Given the description of an element on the screen output the (x, y) to click on. 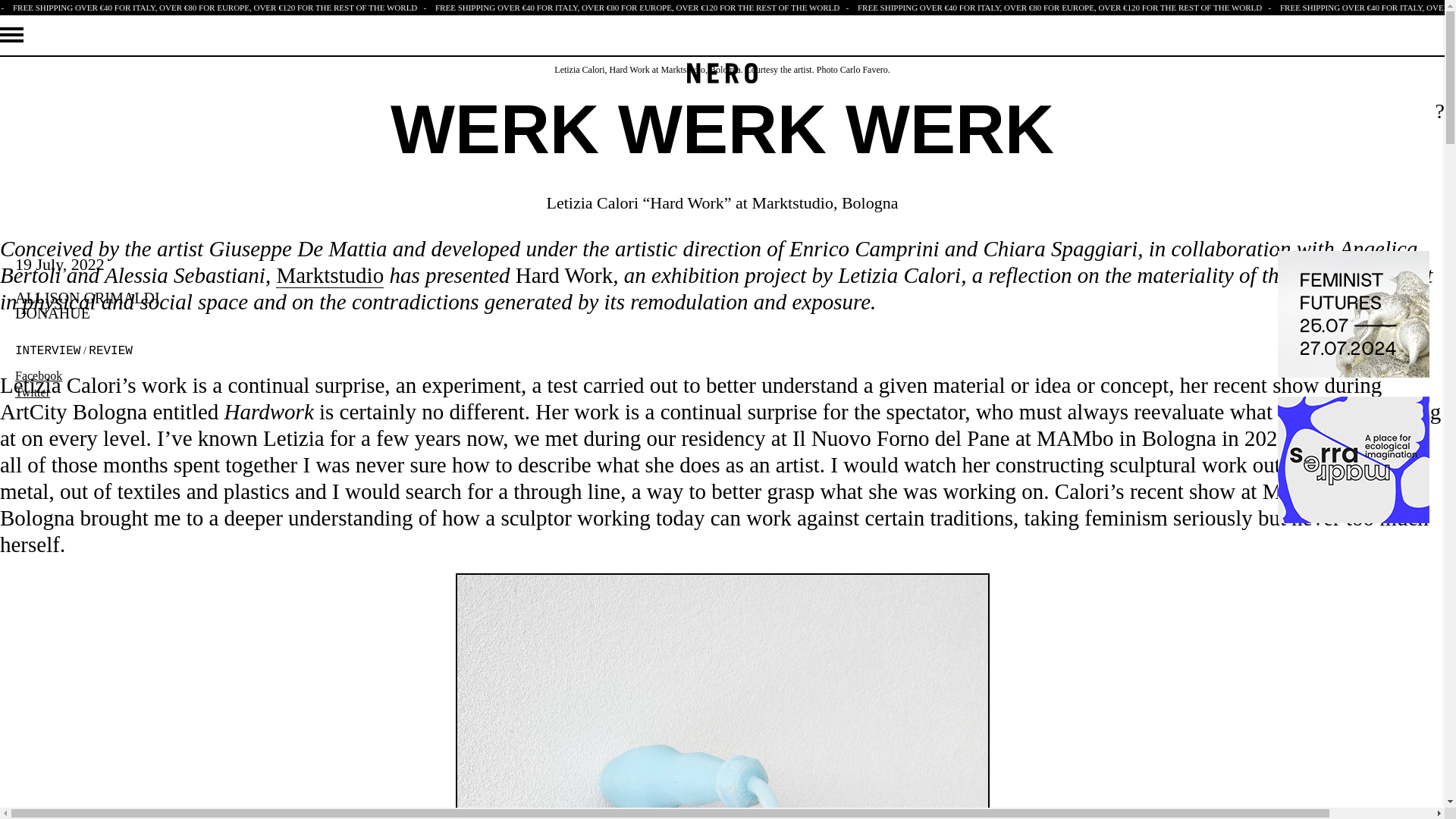
Facebook (44, 375)
ALLISON GRIMALDI DONAHUE (87, 305)
REVIEW (110, 349)
INTERVIEW (47, 349)
